Given the description of an element on the screen output the (x, y) to click on. 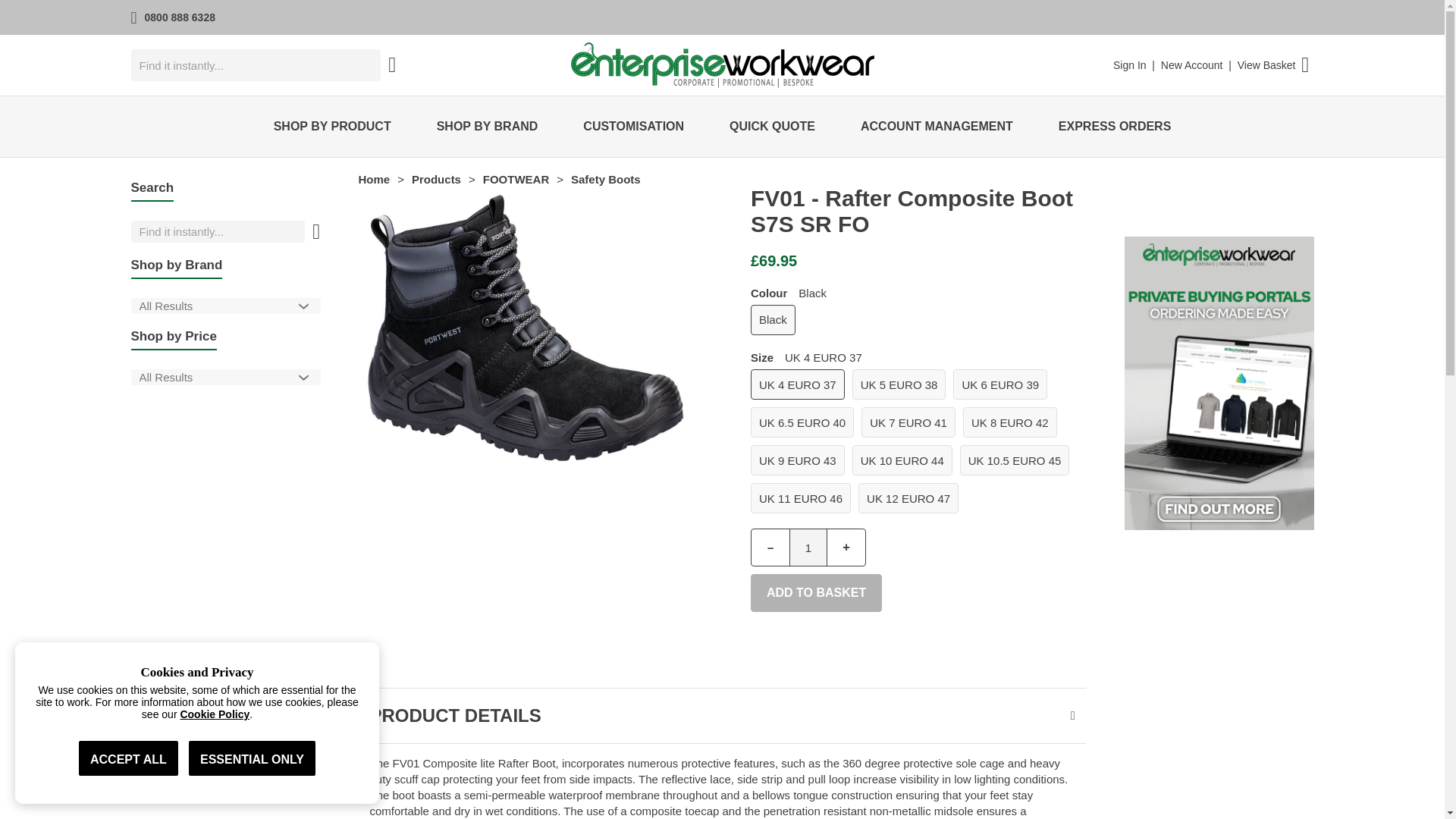
Sign In (1130, 64)
View Basket (1266, 64)
SHOP BY PRODUCT (331, 126)
1 (808, 547)
0800 888 6328 (179, 17)
New Account (1191, 64)
